Given the description of an element on the screen output the (x, y) to click on. 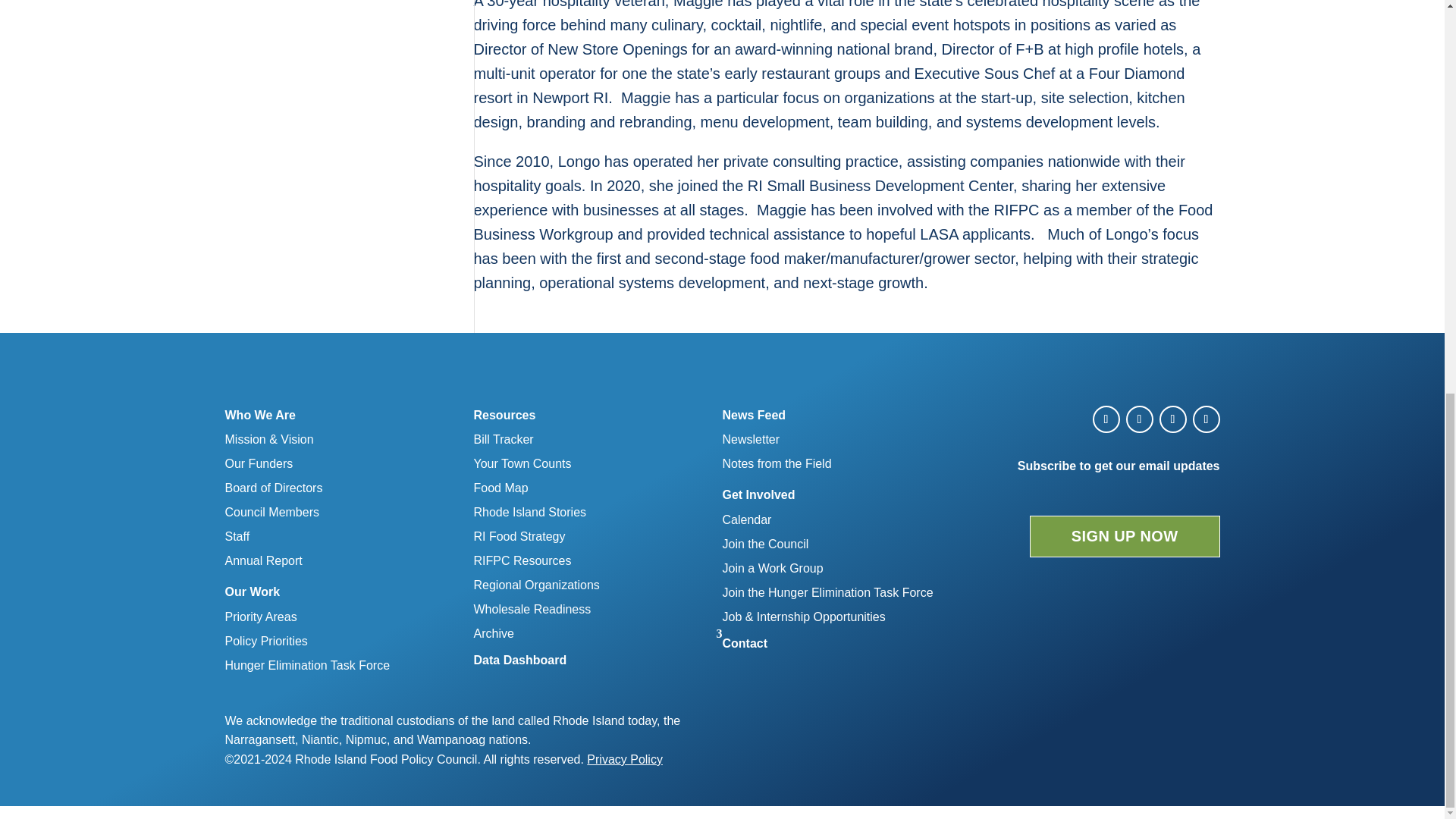
Follow on X (1139, 419)
Follow on LinkedIn (1206, 419)
Follow on Instagram (1172, 419)
Follow on Facebook (1105, 419)
